Given the description of an element on the screen output the (x, y) to click on. 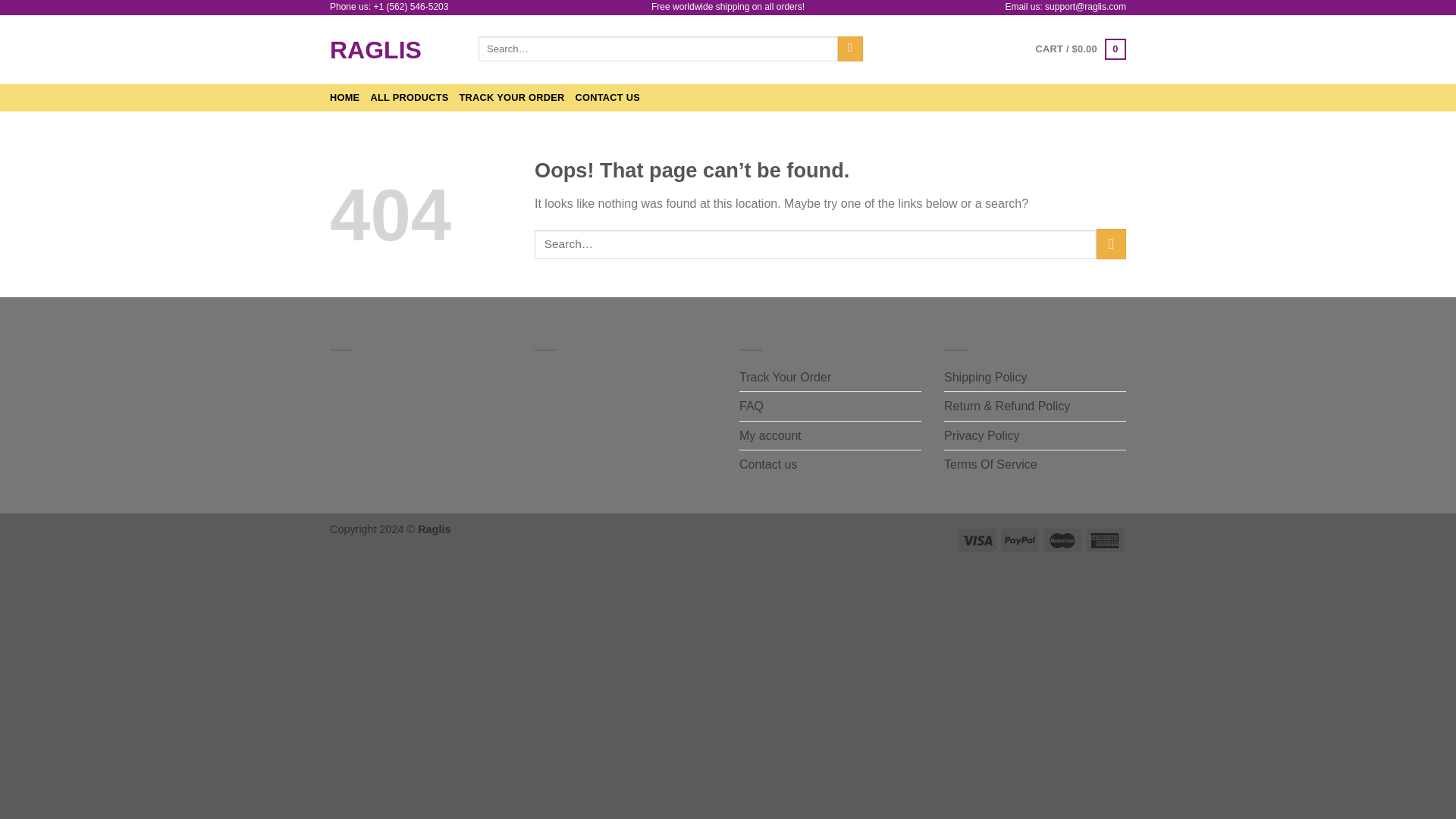
Shipping Policy (984, 377)
HOME (344, 97)
RAGLIS (392, 49)
ALL PRODUCTS (408, 97)
Contact us (767, 464)
Raglis (392, 49)
CONTACT US (607, 97)
Track Your Order (785, 377)
Terms Of Service (989, 464)
My account (770, 435)
TRACK YOUR ORDER (512, 97)
Cart (1080, 49)
Privacy Policy (981, 435)
